Given the description of an element on the screen output the (x, y) to click on. 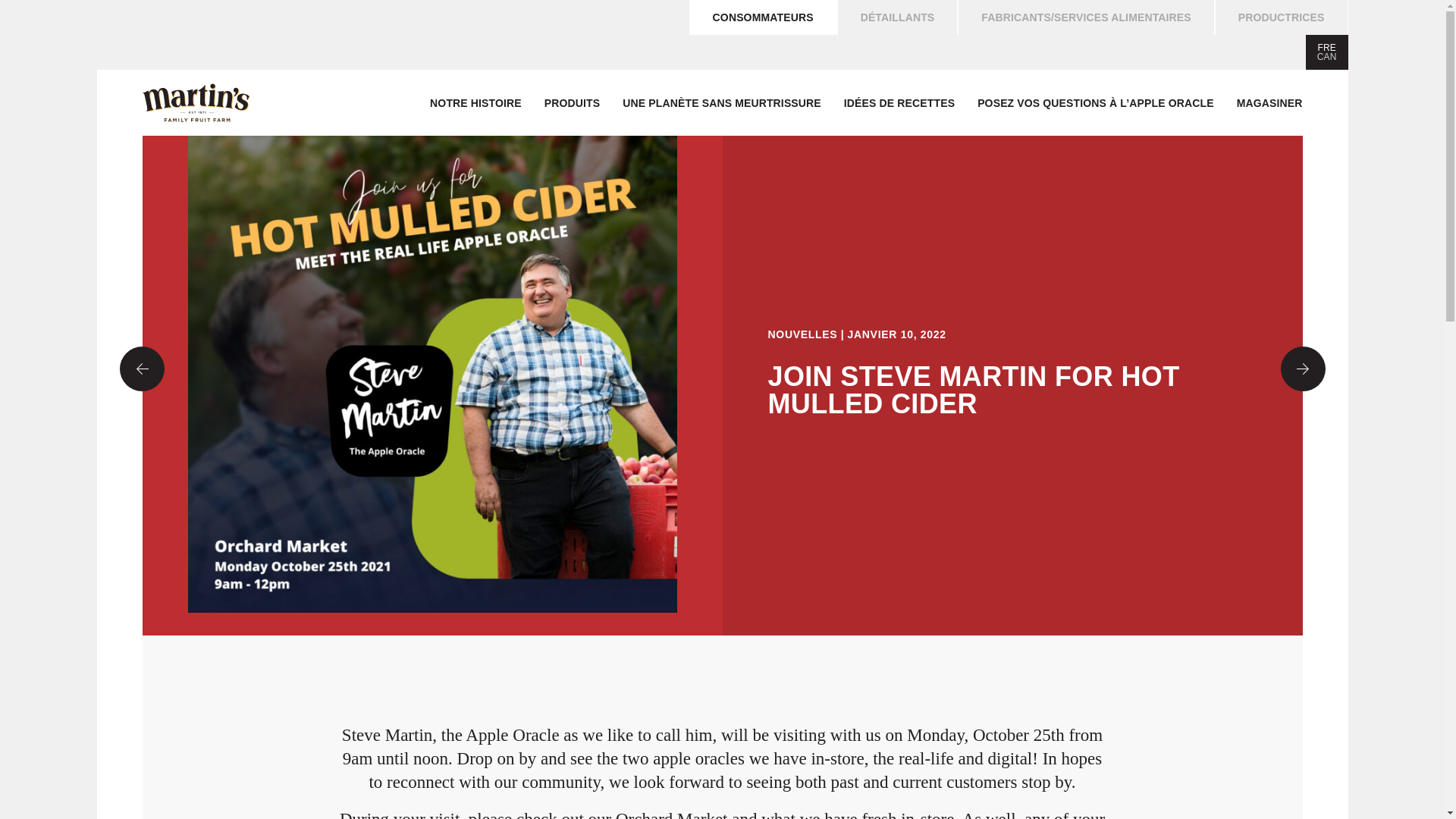
NOTRE HISTOIRE (475, 102)
Next Slide (1301, 367)
Previous Slide (141, 367)
Martins Home Page (196, 102)
PRODUCTRICES (1281, 17)
MAGASINER (1269, 102)
PRODUITS (571, 102)
